Given the description of an element on the screen output the (x, y) to click on. 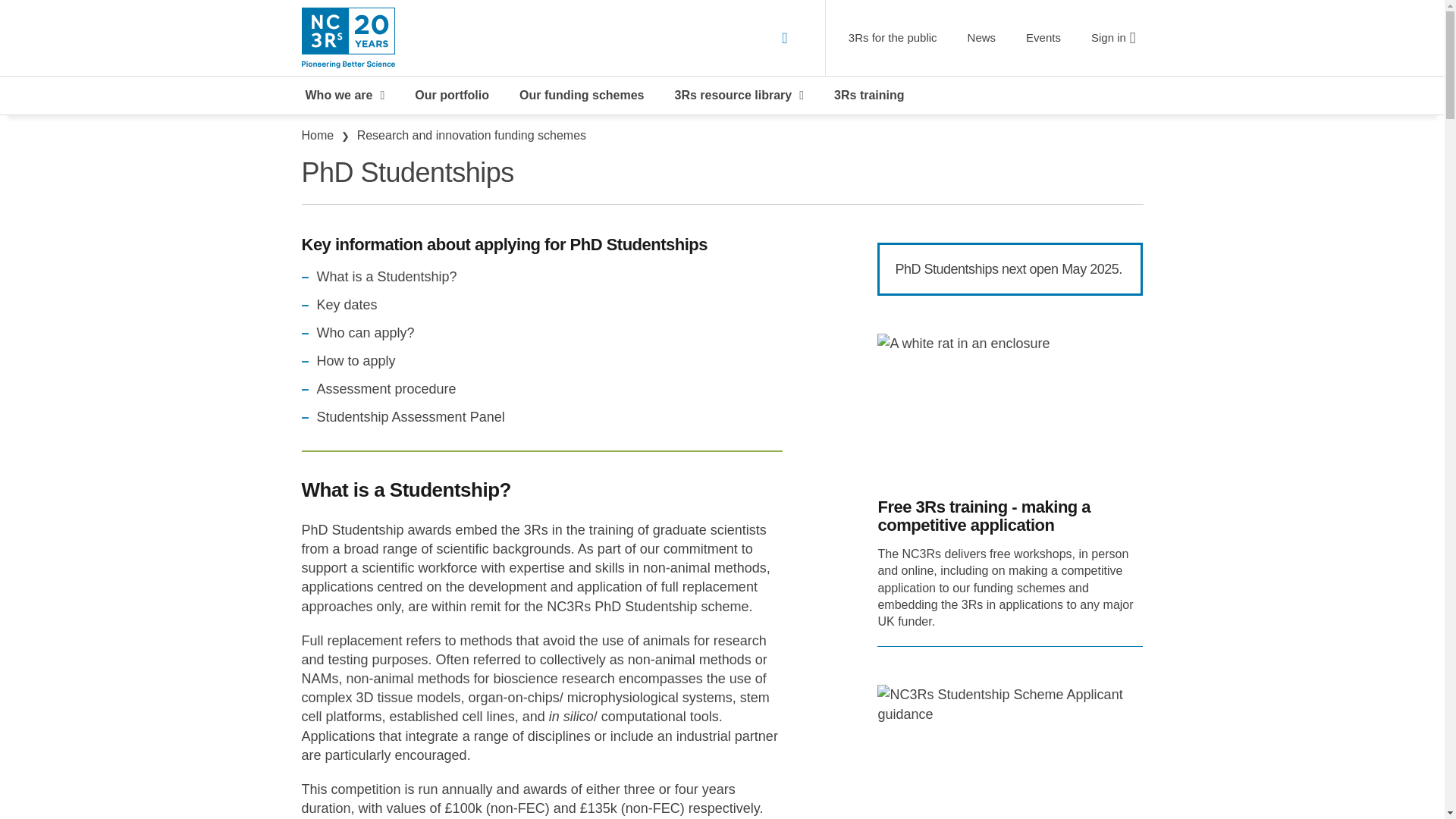
Events (1042, 37)
News (981, 37)
In page link to Key dates (347, 304)
Sign in (1112, 37)
In page link to Who can apply? (365, 332)
Our funding schemes (581, 95)
Free 3Rs training - making a competitive application (1009, 515)
In page link to Assessment procedure (387, 389)
